Given the description of an element on the screen output the (x, y) to click on. 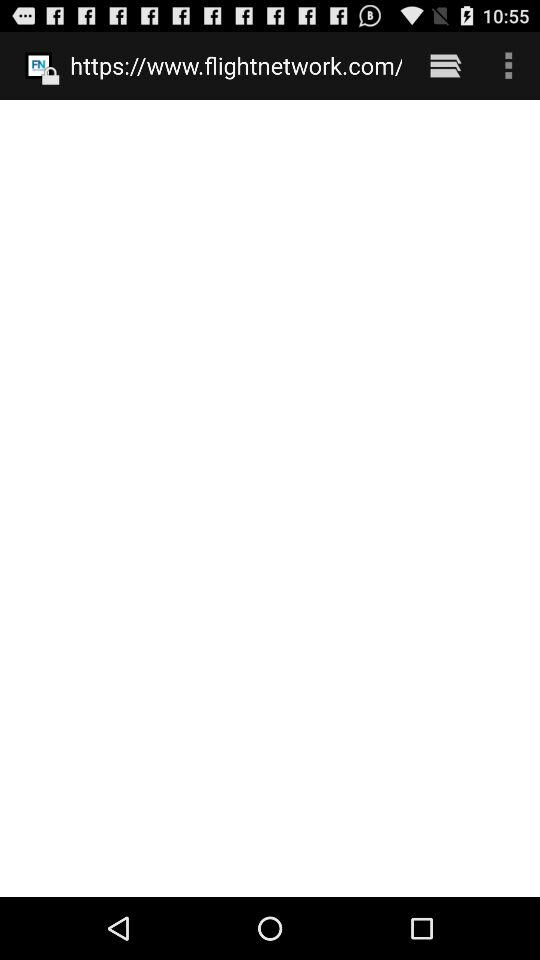
select icon to the right of the https www flightnetwork item (444, 65)
